Given the description of an element on the screen output the (x, y) to click on. 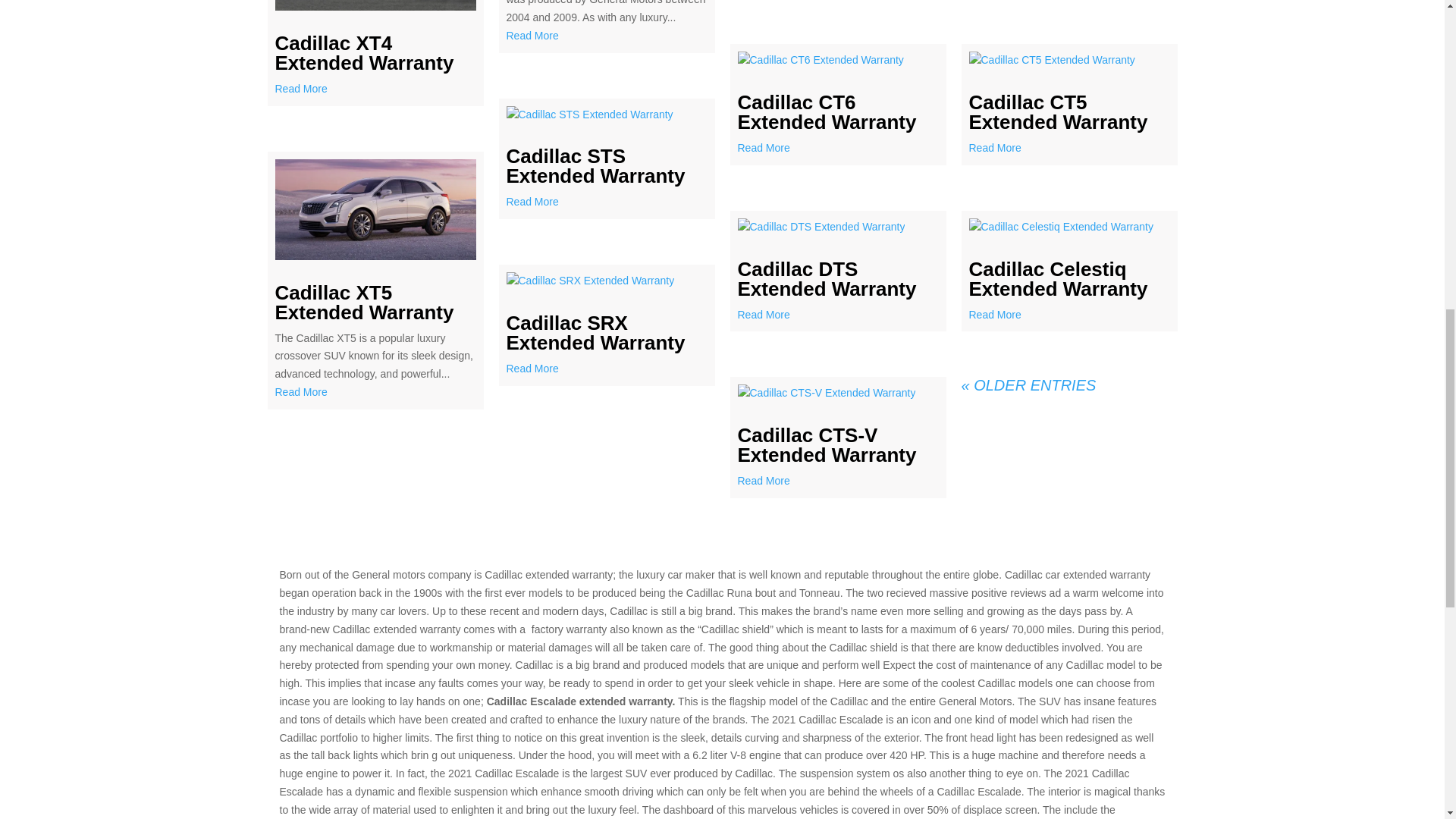
Cadillac XT5 Extended Warranty (363, 302)
Cadillac CT6 Extended Warranty (825, 111)
Read More (836, 315)
Read More (606, 36)
Cadillac Celestiq Extended Warranty (1058, 278)
Cadillac SRX Extended Warranty (595, 332)
Cadillac XT4 Extended Warranty (363, 52)
Read More (836, 481)
Cadillac CTS-V Extended Warranty (825, 445)
Read More (606, 369)
Cadillac CT5 Extended Warranty (1058, 111)
Read More (606, 202)
Cadillac STS Extended Warranty (595, 165)
Read More (1069, 148)
Read More (836, 148)
